Given the description of an element on the screen output the (x, y) to click on. 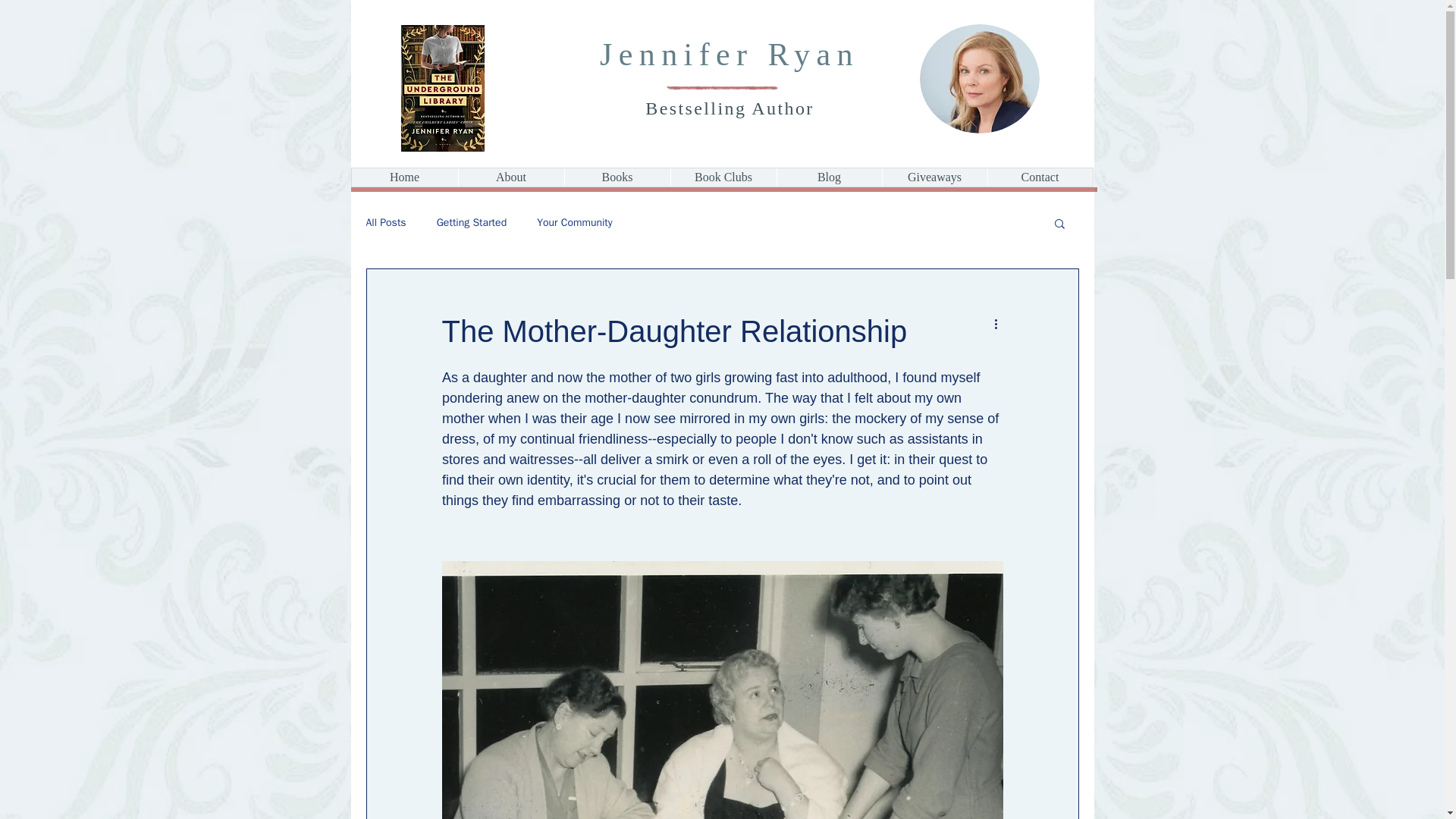
Book Clubs (722, 177)
Books (616, 177)
Bestselling Author (729, 107)
All Posts (385, 223)
Contact (1040, 177)
Blog (829, 177)
Giveaways (933, 177)
Getting Started (471, 223)
Jennifer Ryan (729, 54)
About (511, 177)
